Given the description of an element on the screen output the (x, y) to click on. 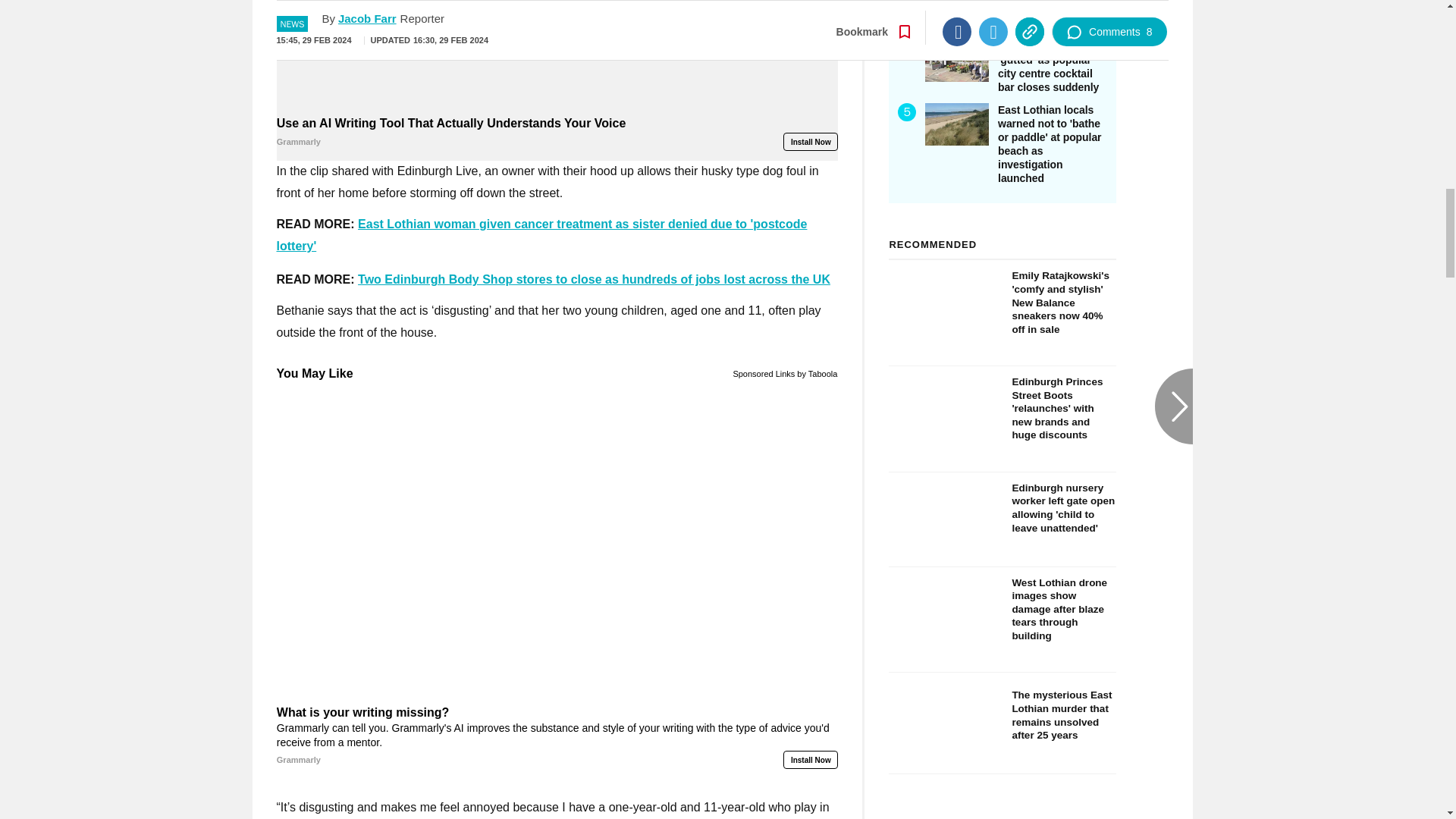
Use an AI Writing Tool That Actually Understands Your Voice (557, 56)
